Given the description of an element on the screen output the (x, y) to click on. 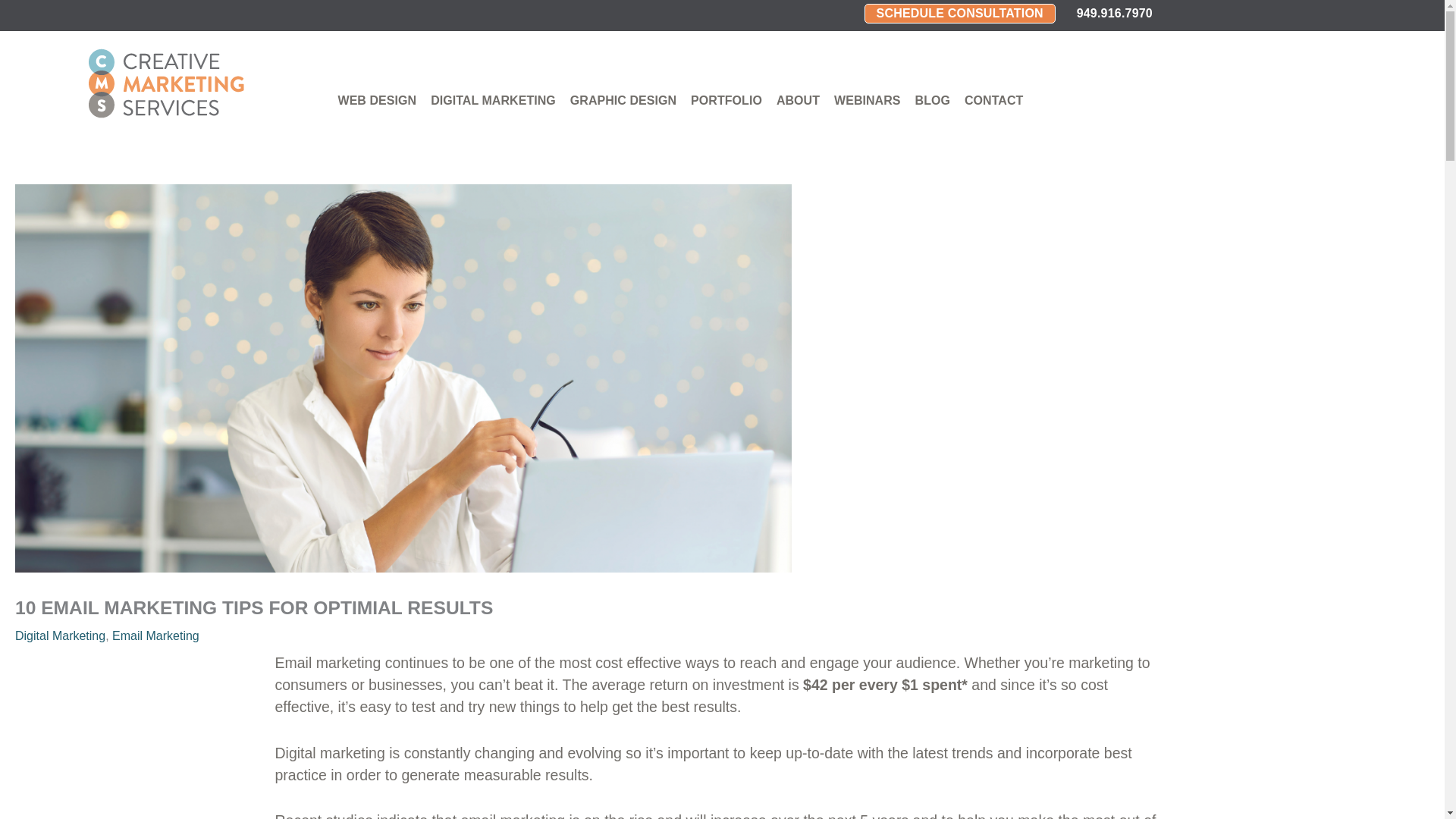
SCHEDULE CONSULTATION (959, 13)
WEB DESIGN (376, 101)
WEBINARS (866, 101)
CONTACT (993, 101)
BLOG (932, 101)
DIGITAL MARKETING (492, 101)
ABOUT (798, 101)
GRAPHIC DESIGN (622, 101)
PORTFOLIO (726, 101)
